Given the description of an element on the screen output the (x, y) to click on. 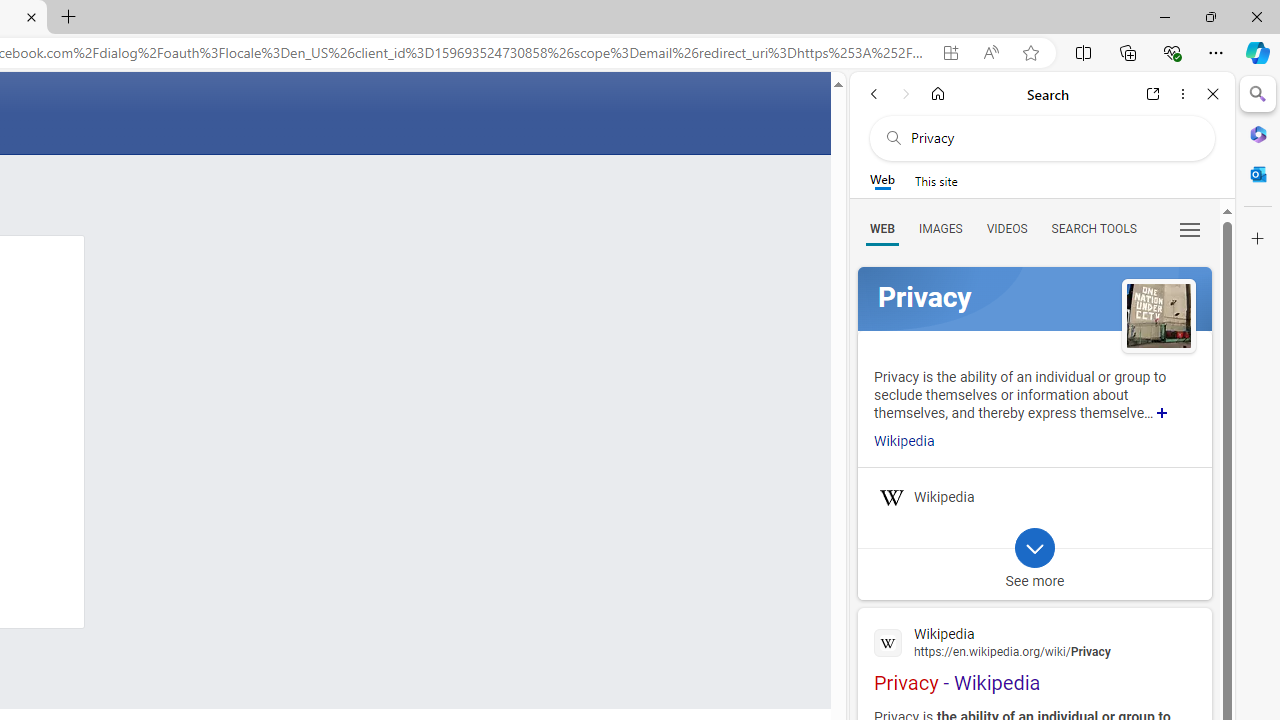
Privacy - Wikipedia (1034, 657)
Show more (1162, 412)
Home (938, 93)
Open link in new tab (1153, 93)
Search Filter, VIDEOS (1006, 228)
SEARCH TOOLS (1093, 228)
Wikipedia (1034, 641)
See more images of Privacy (1158, 315)
VIDEOS (1006, 228)
